Given the description of an element on the screen output the (x, y) to click on. 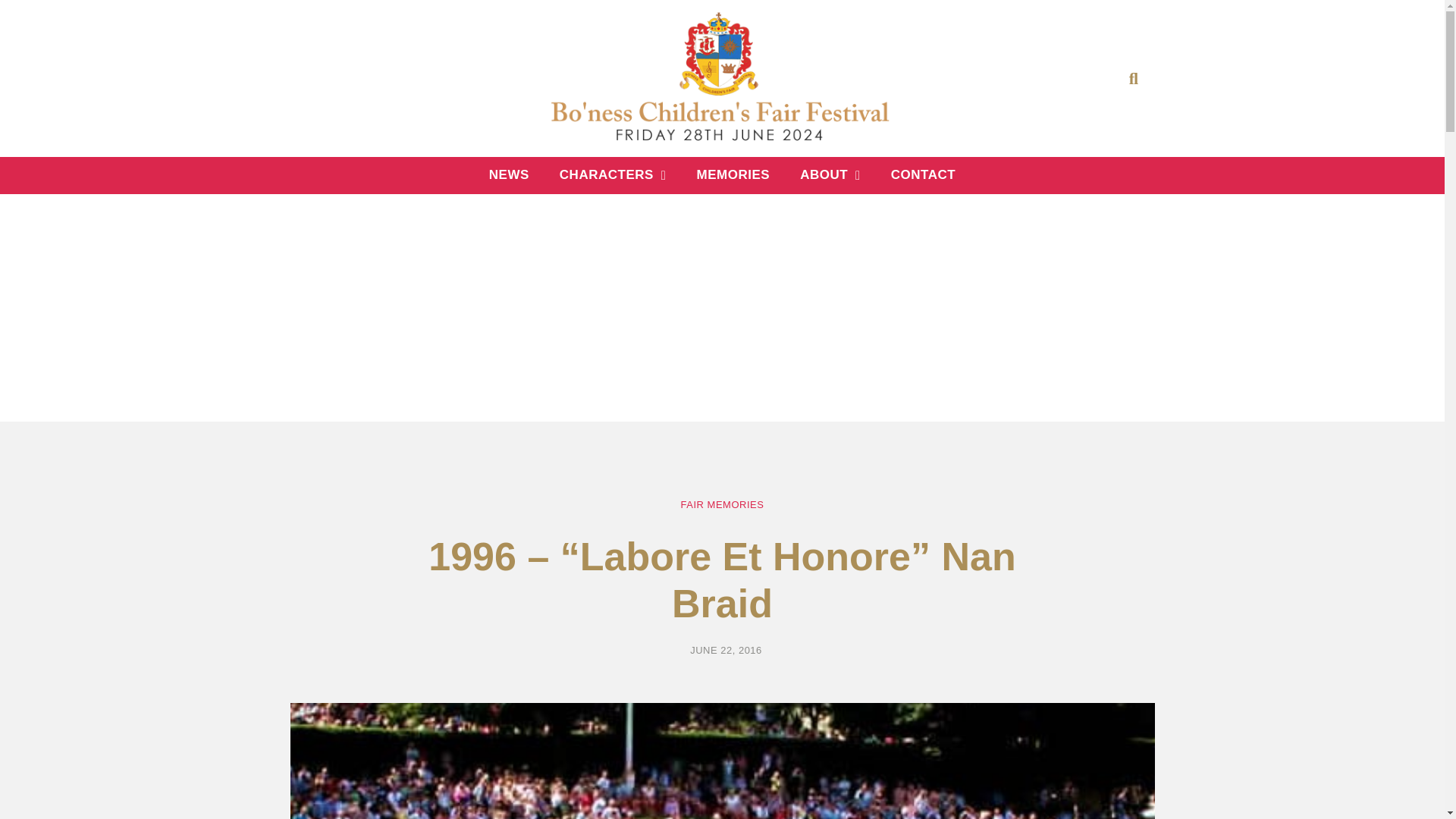
CHARACTERS (612, 175)
ABOUT (830, 175)
CONTACT (923, 175)
JUNE 22, 2016 (721, 650)
NEWS (509, 175)
MEMORIES (733, 175)
FAIR MEMORIES (722, 504)
